Given the description of an element on the screen output the (x, y) to click on. 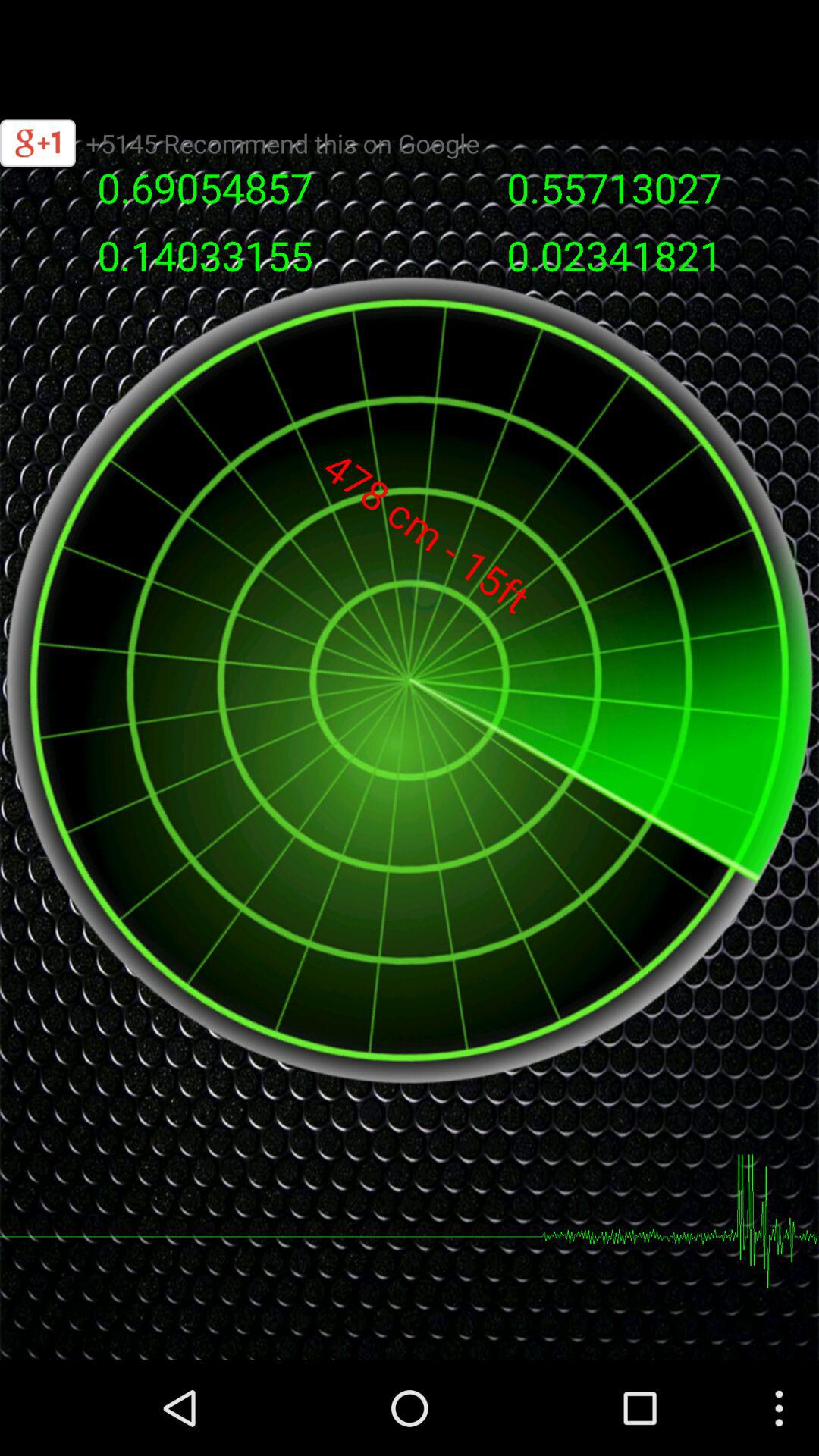
search field (409, 49)
